Given the description of an element on the screen output the (x, y) to click on. 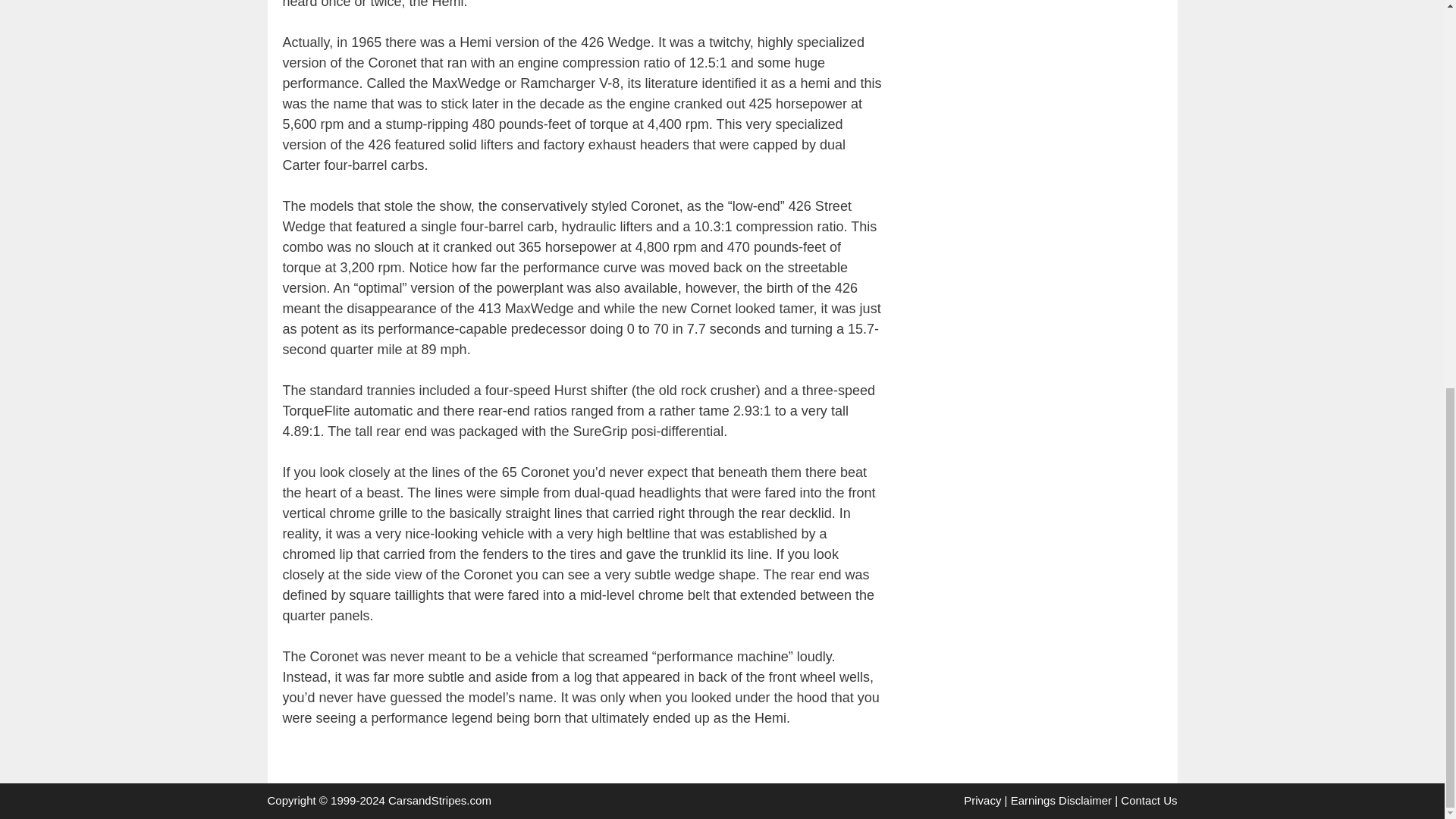
Earnings Disclaimer (1061, 799)
Contact Us (1148, 799)
Privacy (982, 799)
